Given the description of an element on the screen output the (x, y) to click on. 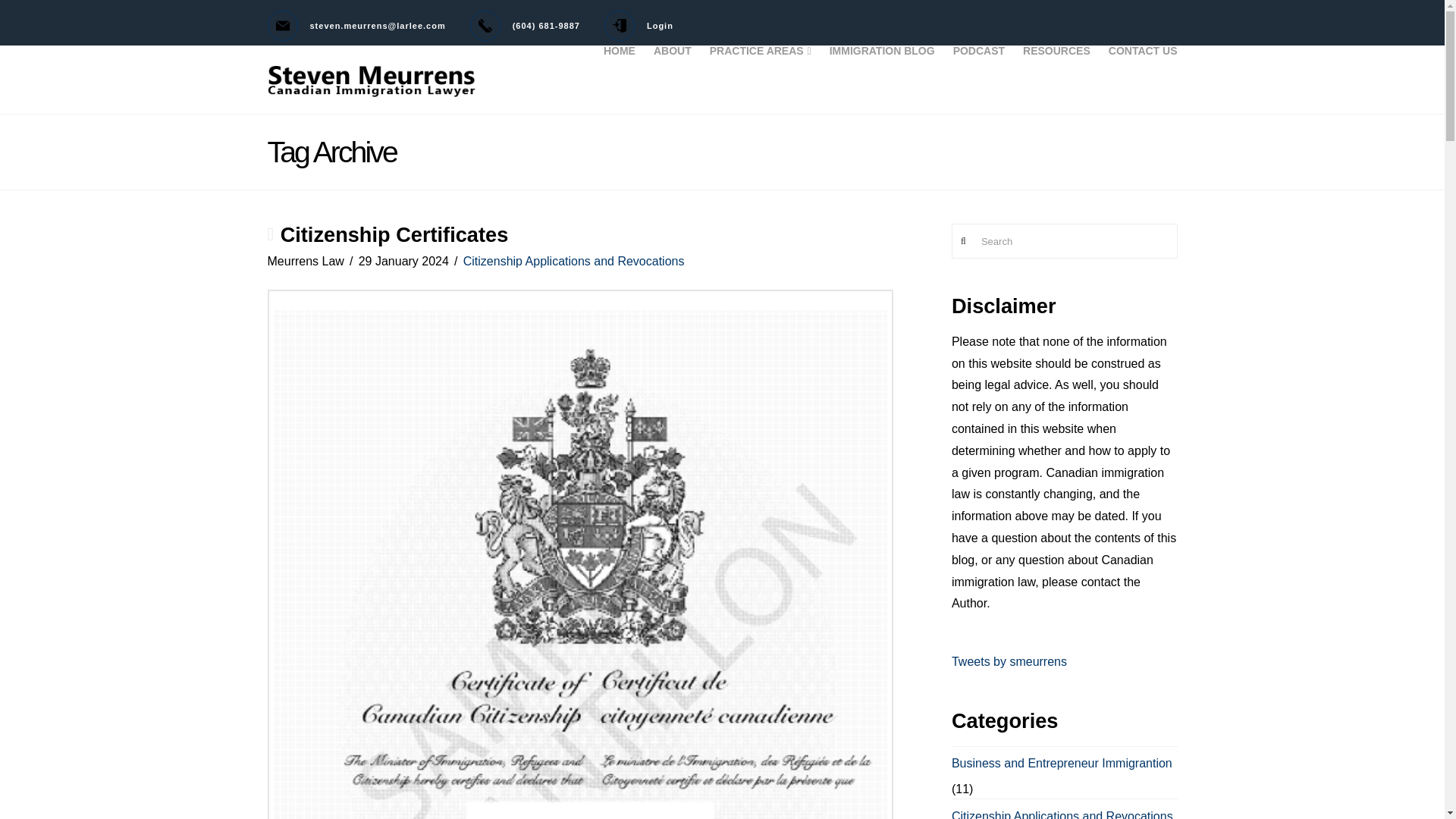
IMMIGRATION BLOG (882, 79)
Login (638, 25)
RESOURCES (1056, 79)
Citizenship Certificates (394, 234)
CONTACT US (1138, 79)
PODCAST (978, 79)
Citizenship Applications and Revocations (573, 260)
PRACTICE AREAS (760, 79)
Permalink to: "Citizenship Certificates" (394, 234)
